Given the description of an element on the screen output the (x, y) to click on. 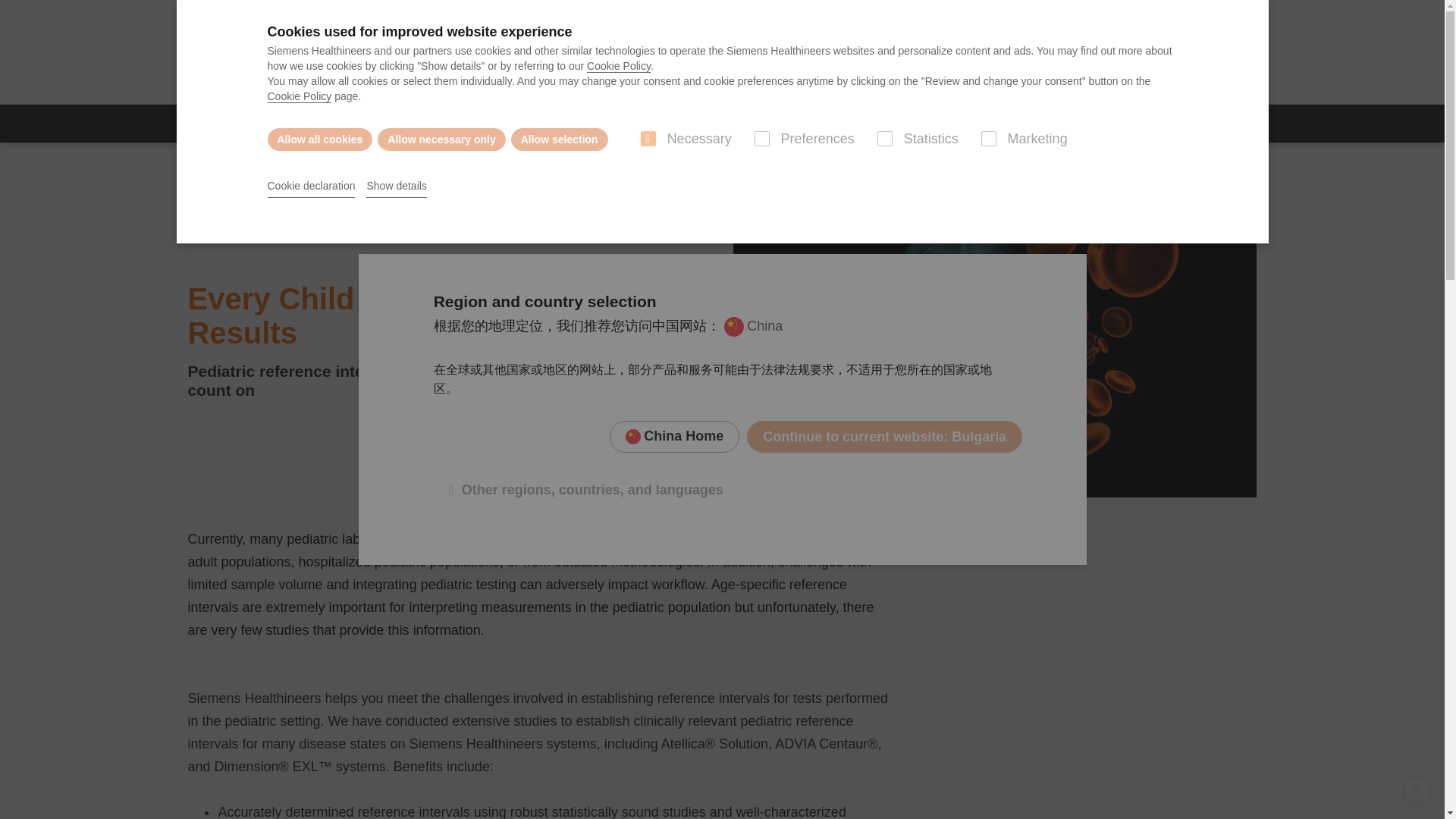
Allow necessary only (441, 138)
Allow selection (559, 138)
Allow all cookies (319, 138)
Cookie Policy (618, 65)
Show details (396, 186)
Cookie Policy (298, 96)
Cookie declaration (310, 186)
